Given the description of an element on the screen output the (x, y) to click on. 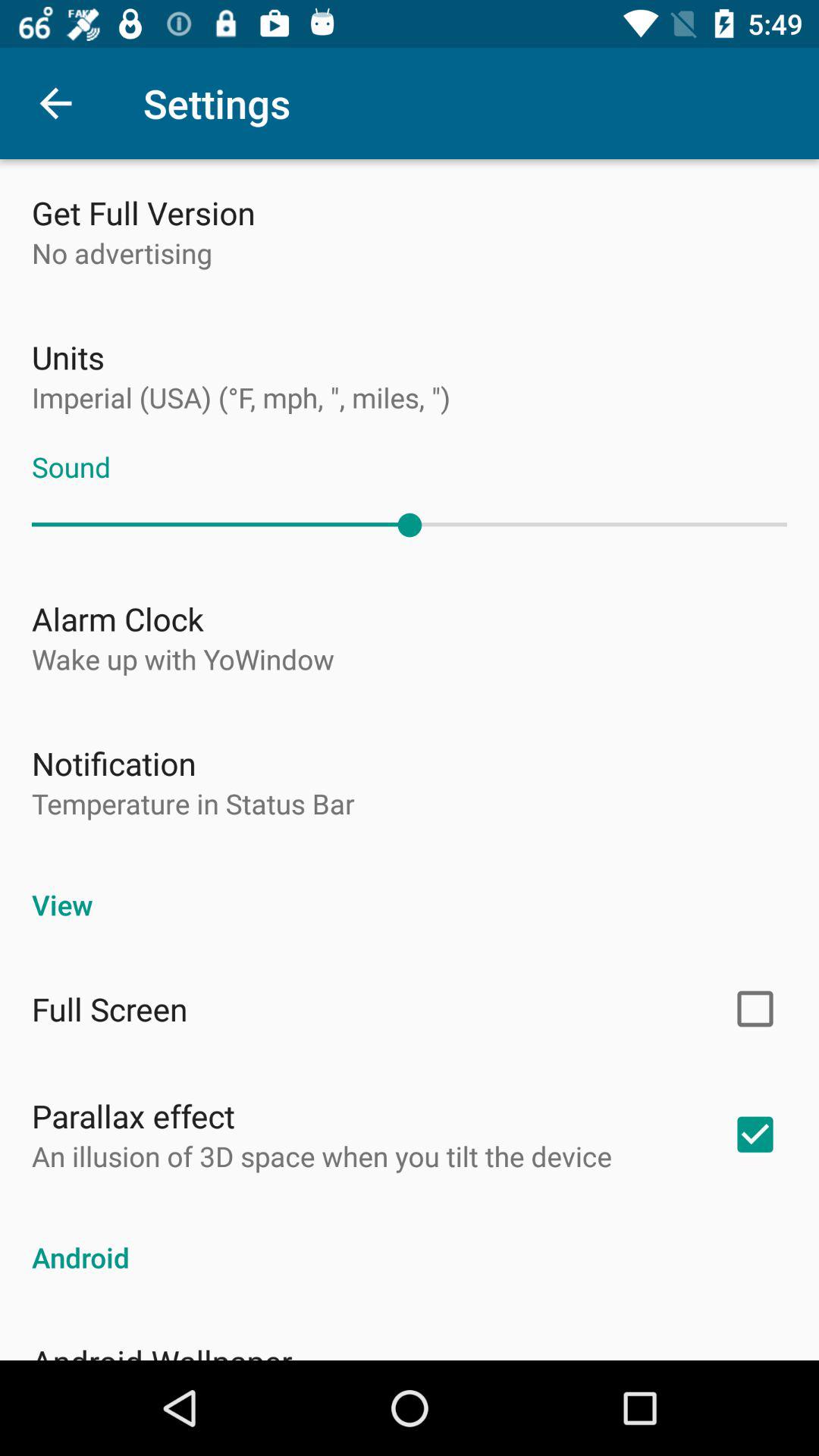
tap icon to the left of settings icon (55, 103)
